Given the description of an element on the screen output the (x, y) to click on. 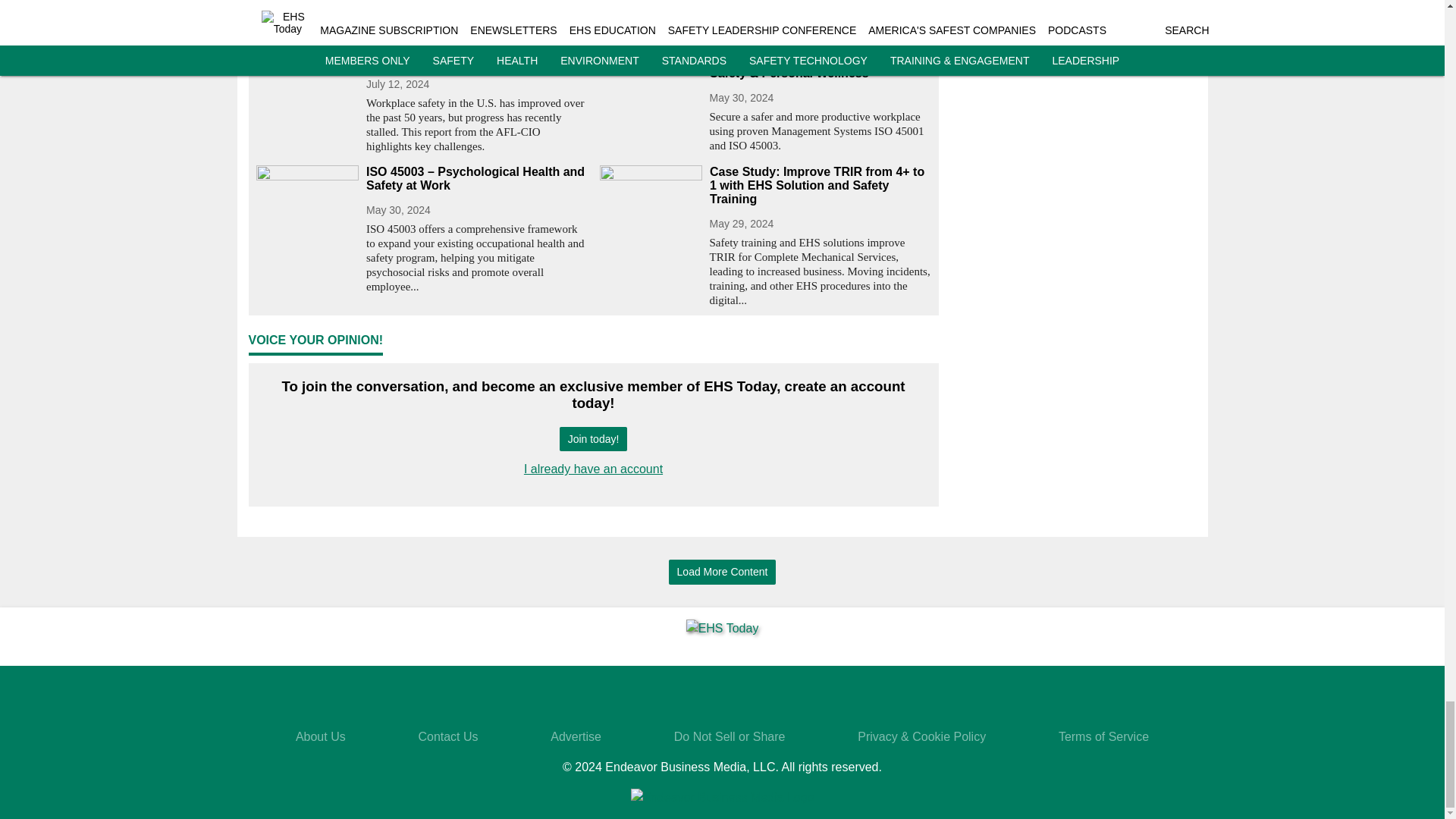
10 Facts About the State of Workplace Safety in the U.S. (476, 52)
Join today! (593, 439)
